Given the description of an element on the screen output the (x, y) to click on. 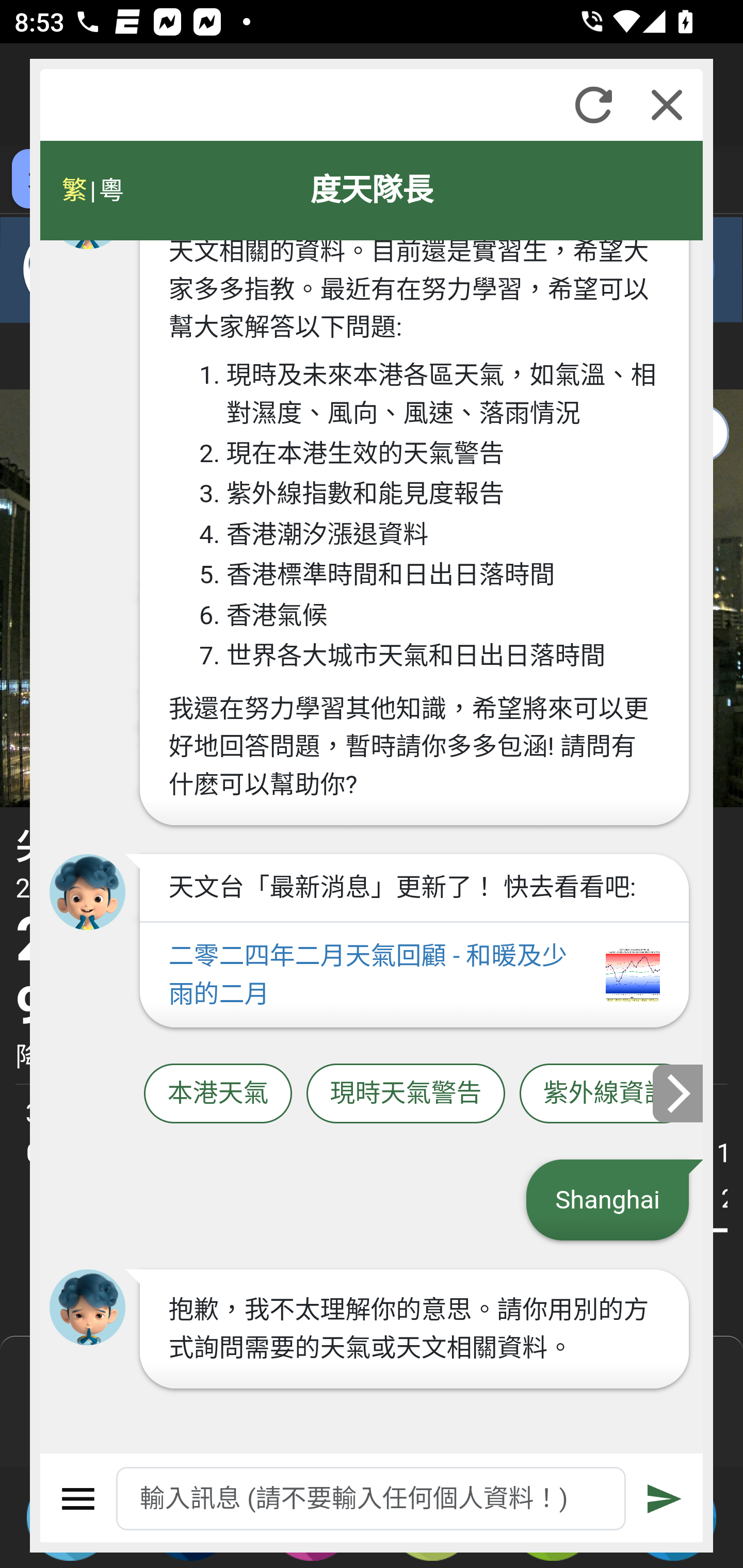
重新整理 (593, 104)
關閉 (666, 104)
繁 (73, 190)
粵 (110, 190)
二零二四年二月天氣回顧 - 和暖及少雨的二月 (413, 974)
本港天氣 (217, 1093)
現時天氣警告 (405, 1093)
紫外線資訊 (605, 1093)
下一張 (678, 1092)
選單 (78, 1498)
遞交 (665, 1498)
